Given the description of an element on the screen output the (x, y) to click on. 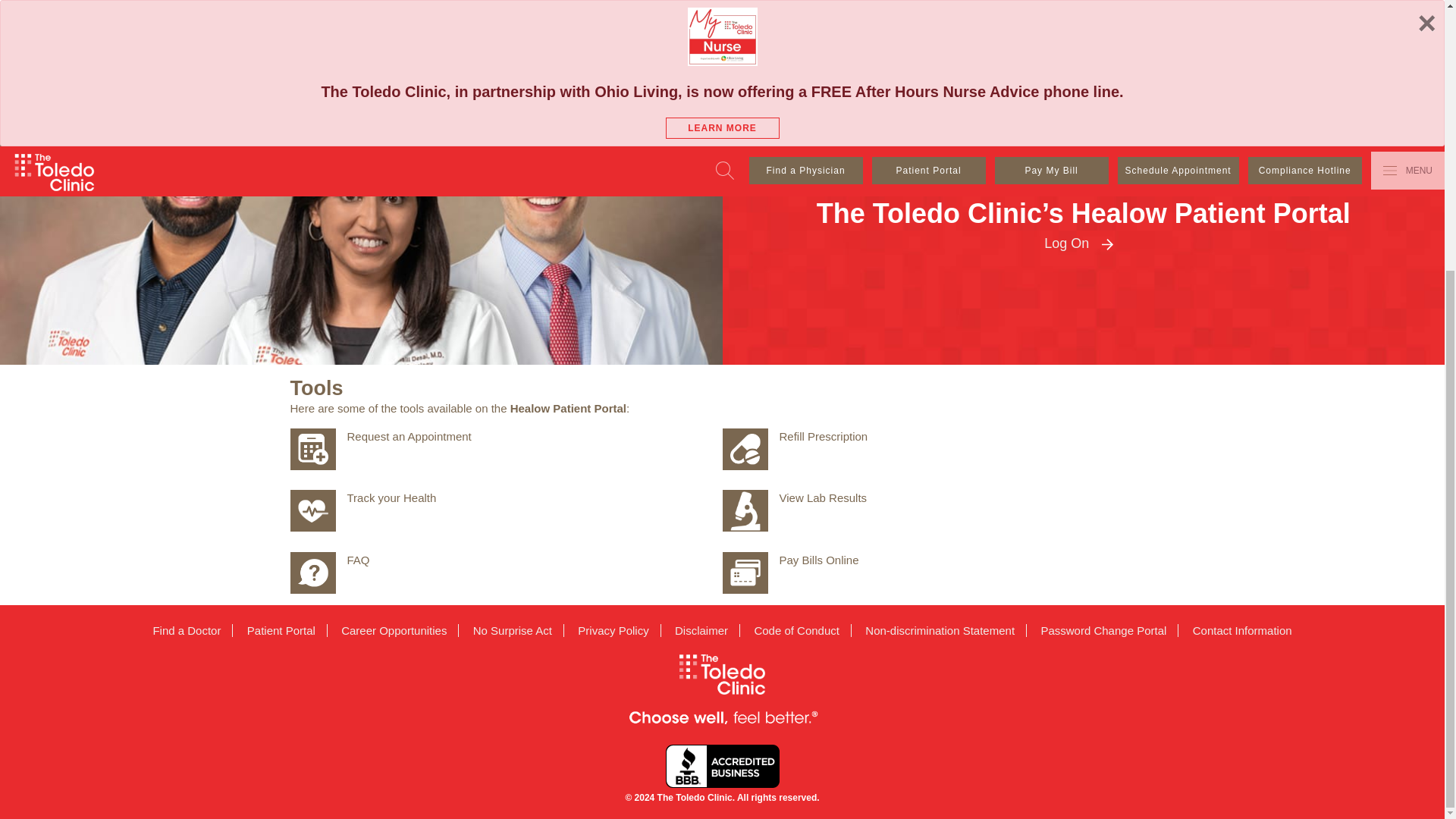
Contact Information (1236, 630)
Privacy Policy (613, 630)
No Surprise Act (512, 630)
Code of Conduct (796, 630)
Toledo Clinic, Inc., Clinic, Toledo, OH (721, 765)
Disclaimer (701, 630)
Find a Doctor (192, 630)
Patient Portal (281, 630)
Career Opportunities (394, 630)
Password Change Portal (1103, 630)
Non-discrimination Statement (939, 630)
